Given the description of an element on the screen output the (x, y) to click on. 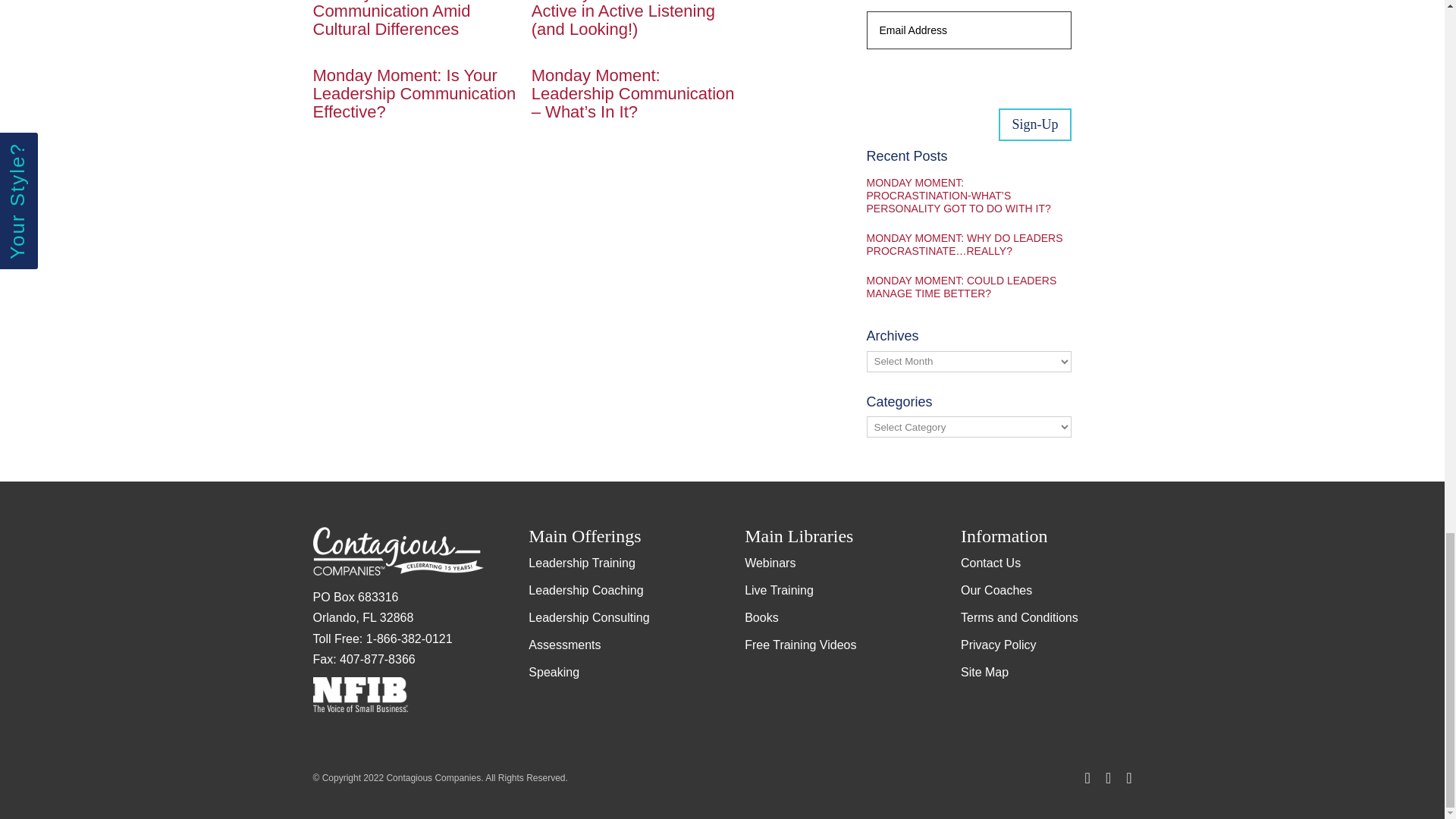
Sign-Up (1034, 124)
